Given the description of an element on the screen output the (x, y) to click on. 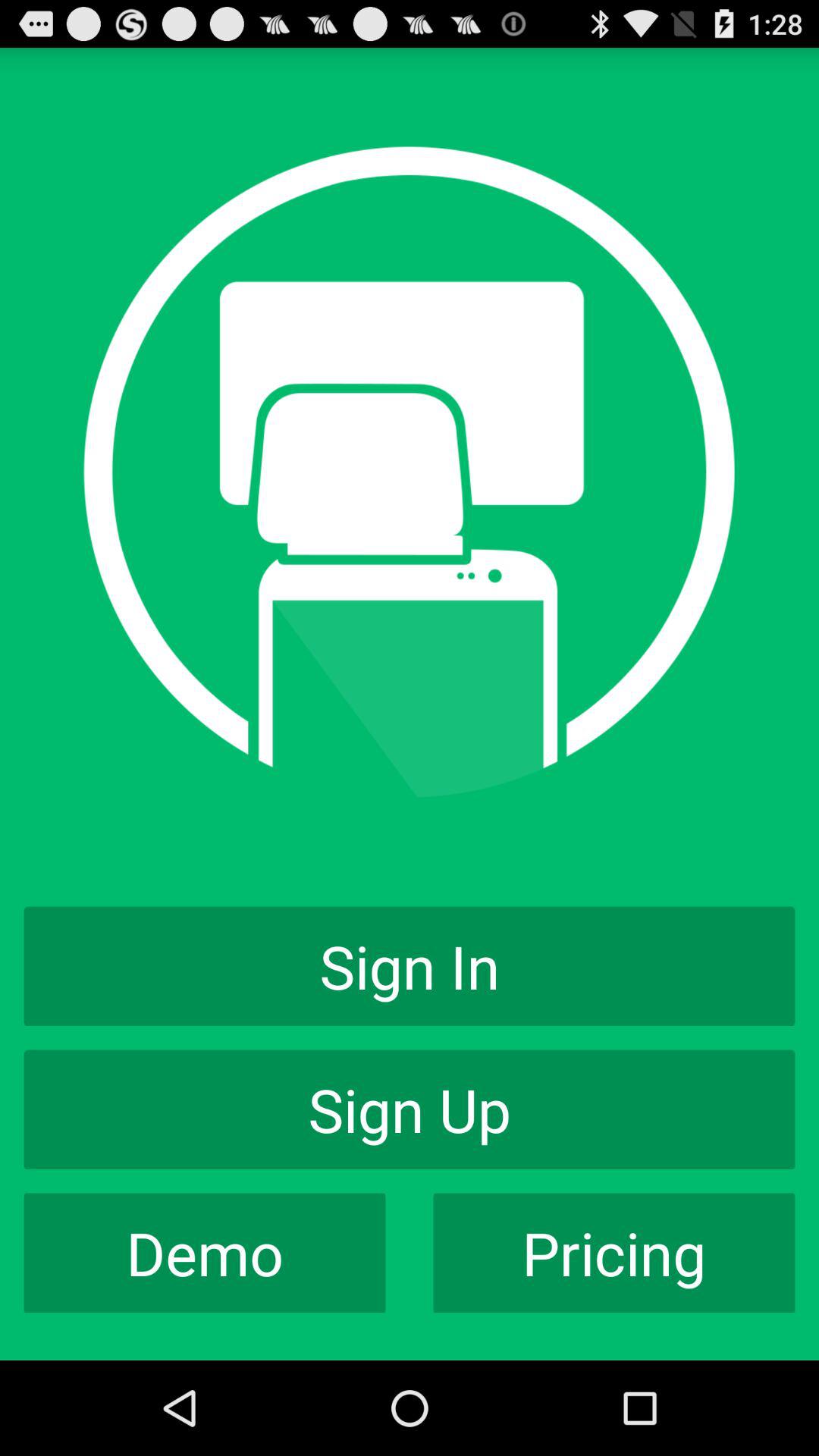
launch the item next to demo (614, 1252)
